Given the description of an element on the screen output the (x, y) to click on. 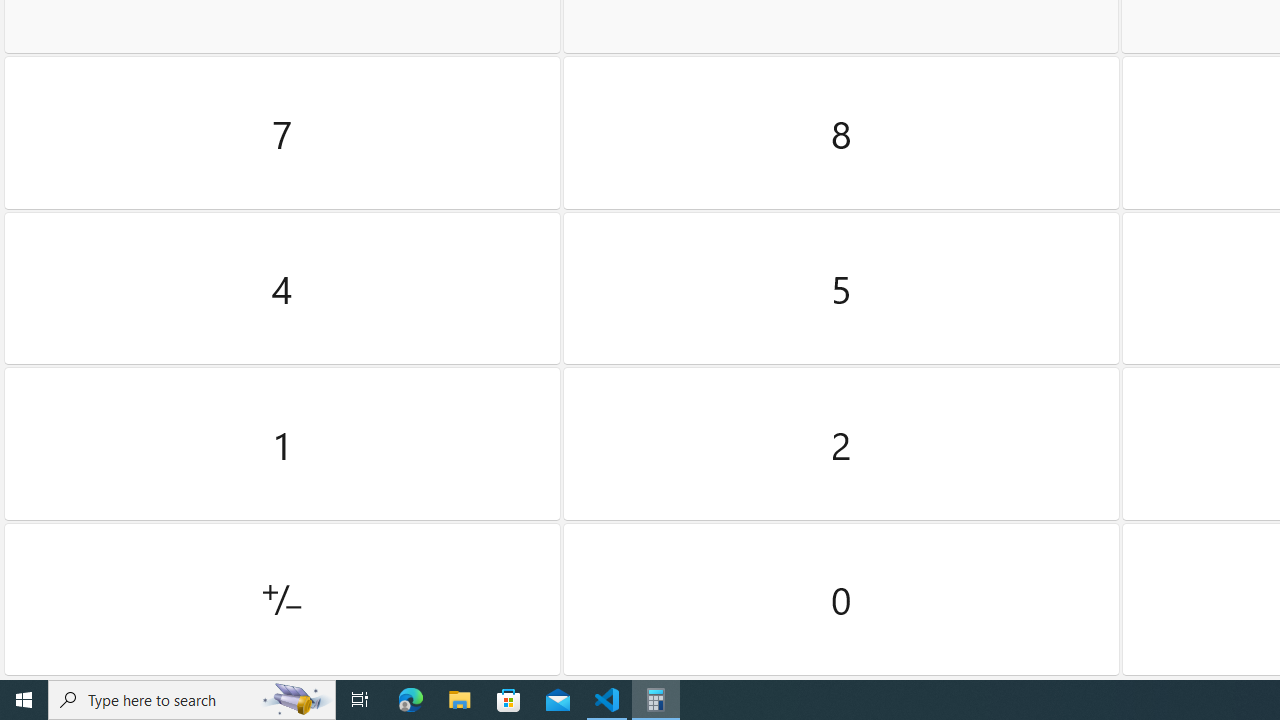
Seven (281, 133)
Positive negative (281, 599)
Four (281, 288)
One (281, 444)
Zero (841, 599)
Five (841, 288)
Two (841, 444)
Eight (841, 133)
